Given the description of an element on the screen output the (x, y) to click on. 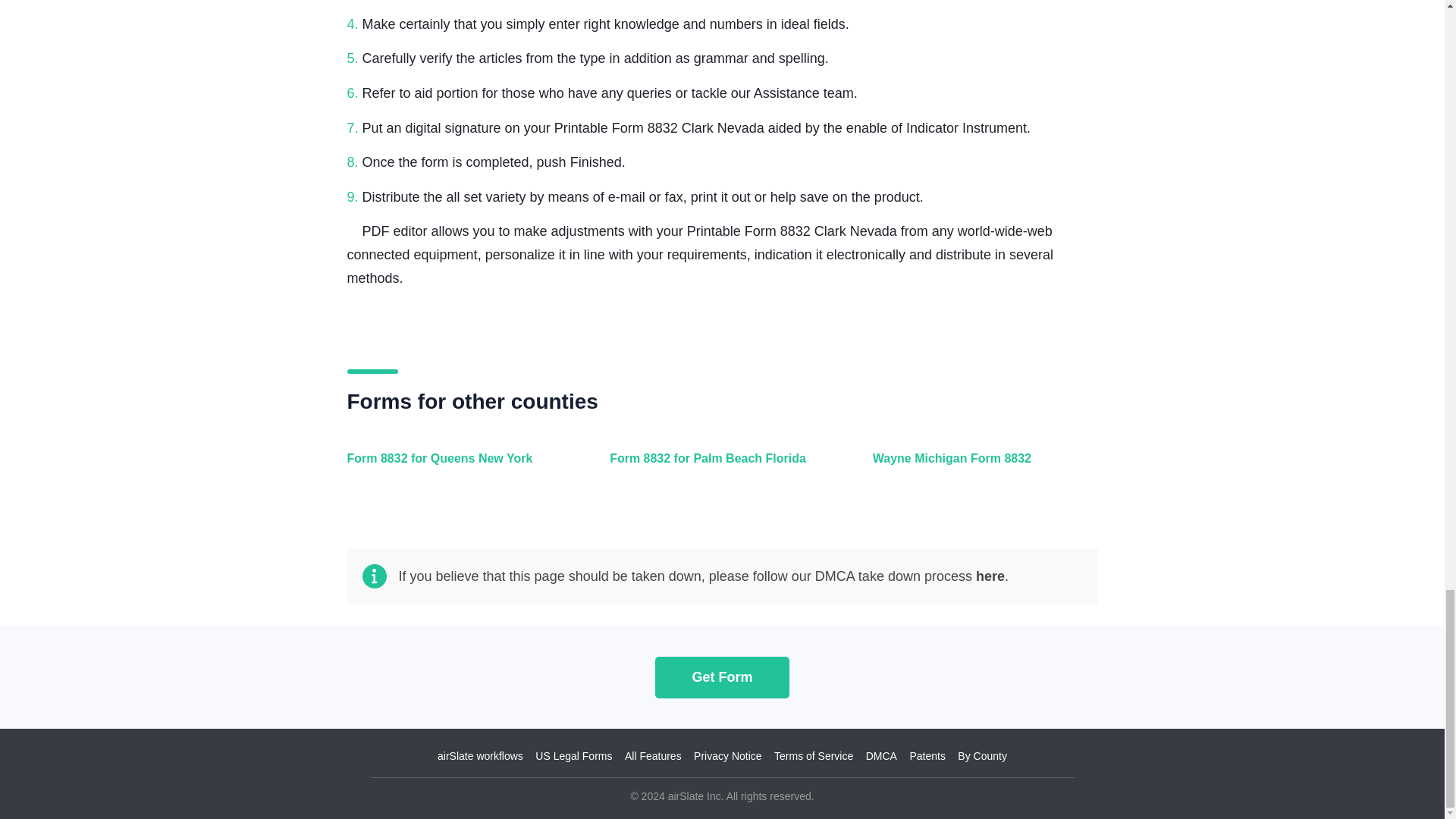
Form 8832 for Palm Beach Florida (718, 466)
Get Form (722, 676)
Patents (926, 756)
DMCA (881, 756)
Terms of Service (813, 756)
Form 8832 for Queens New York (456, 466)
Wayne Michigan Form 8832 (981, 466)
By County (982, 756)
airSlate workflows (480, 756)
US Legal Forms (573, 756)
Privacy Notice (727, 756)
All Features (652, 756)
here (989, 575)
